Given the description of an element on the screen output the (x, y) to click on. 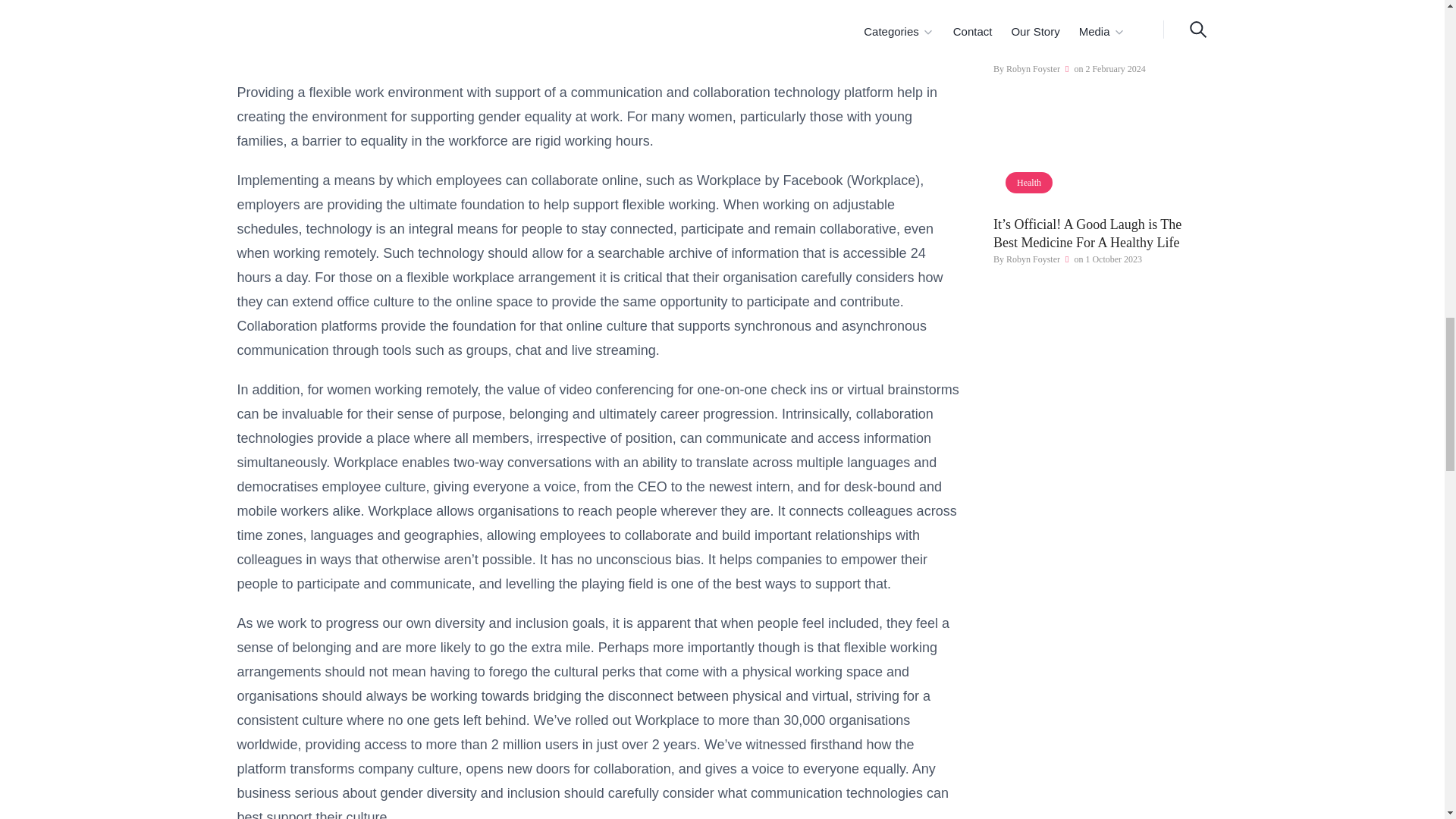
gluten free FoodSwitch (1100, 9)
smiling-old-man-in-monochrome (1100, 158)
